Given the description of an element on the screen output the (x, y) to click on. 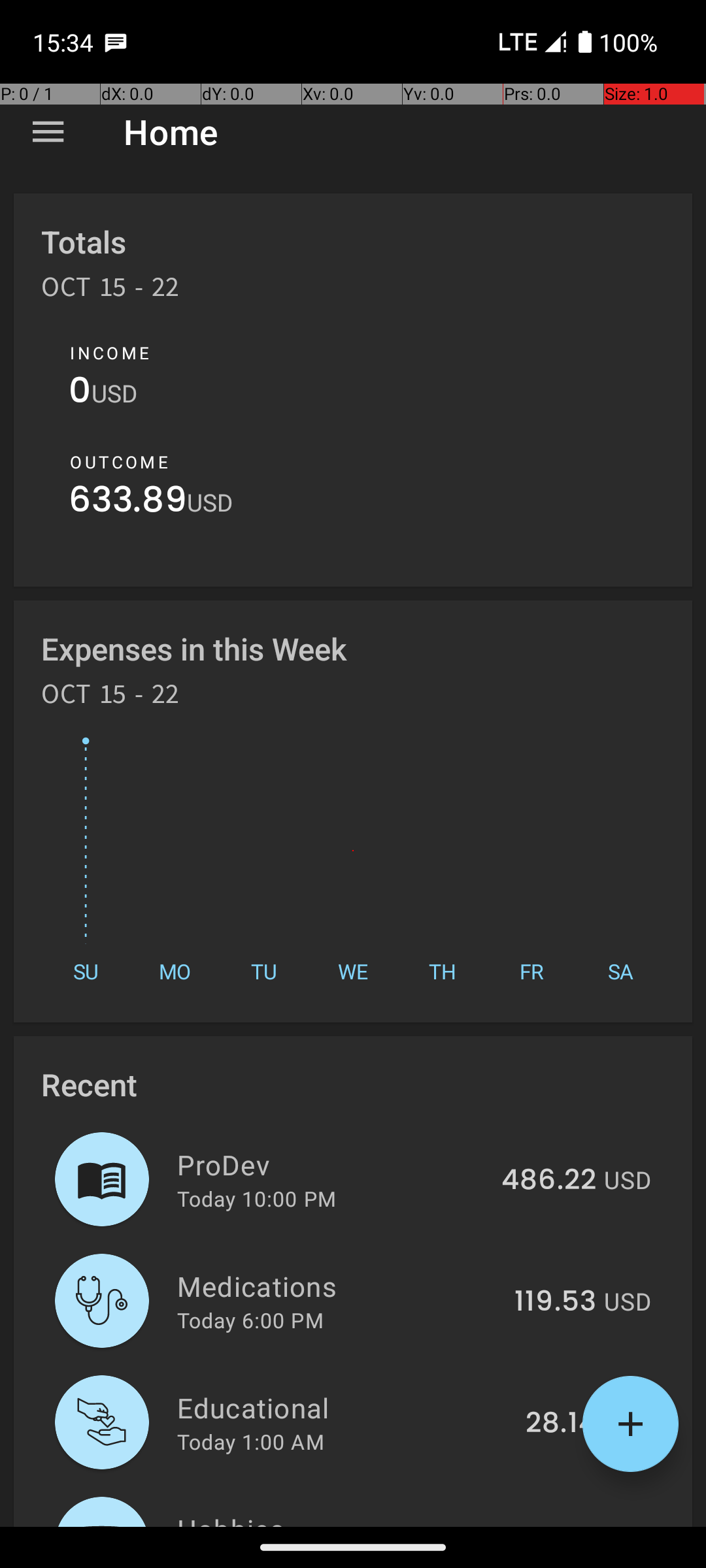
633.89 Element type: android.widget.TextView (127, 502)
ProDev Element type: android.widget.TextView (331, 1164)
486.22 Element type: android.widget.TextView (548, 1180)
Medications Element type: android.widget.TextView (338, 1285)
119.53 Element type: android.widget.TextView (554, 1301)
Educational Element type: android.widget.TextView (343, 1407)
Today 1:00 AM Element type: android.widget.TextView (250, 1441)
28.14 Element type: android.widget.TextView (560, 1423)
Hobbies Element type: android.widget.TextView (333, 1518)
445.01 Element type: android.widget.TextView (550, 1524)
SMS Messenger notification: Juan Alves Element type: android.widget.ImageView (115, 41)
